Given the description of an element on the screen output the (x, y) to click on. 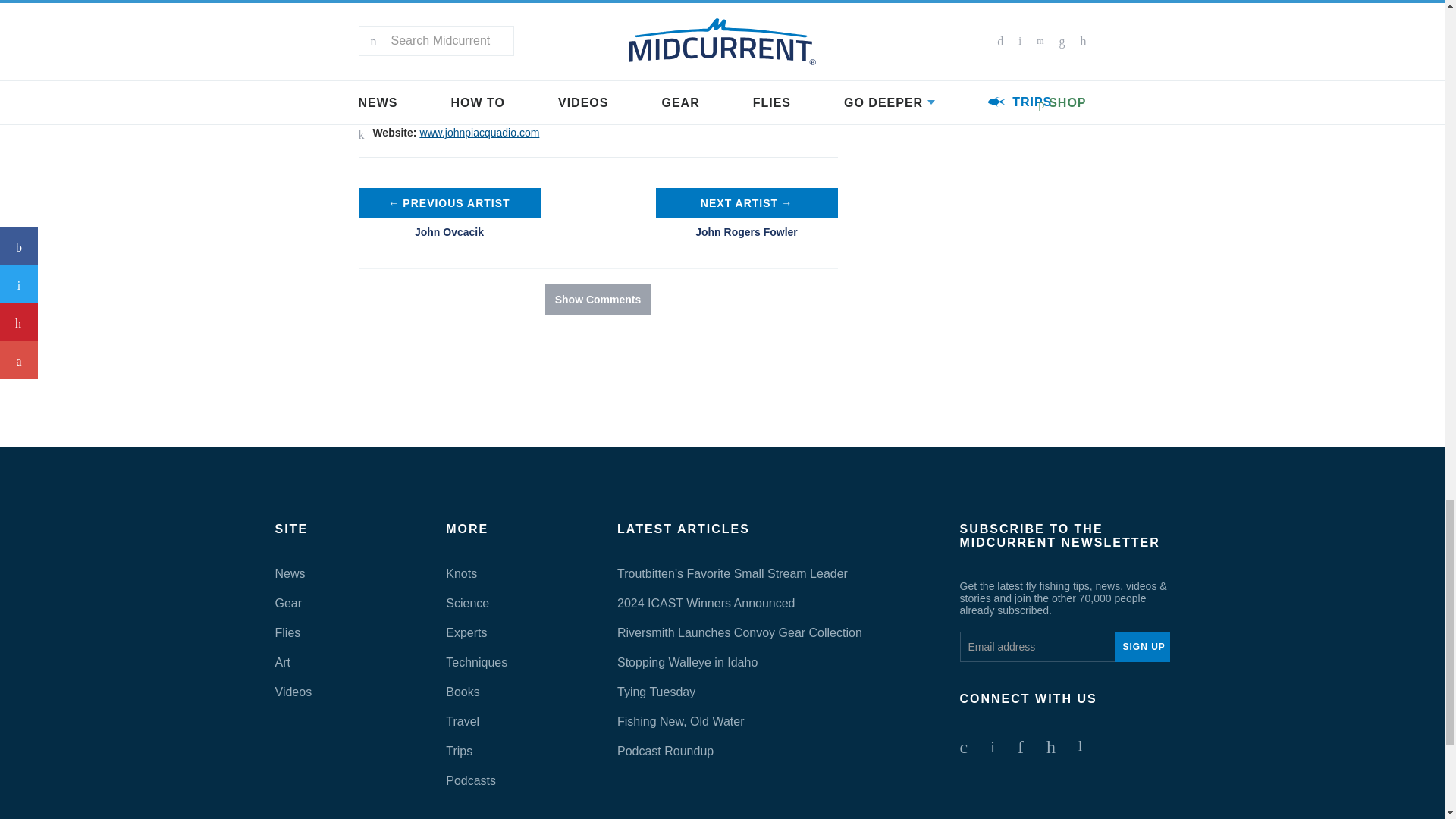
Sign Up (1142, 646)
3rd party ad content (721, 400)
